Given the description of an element on the screen output the (x, y) to click on. 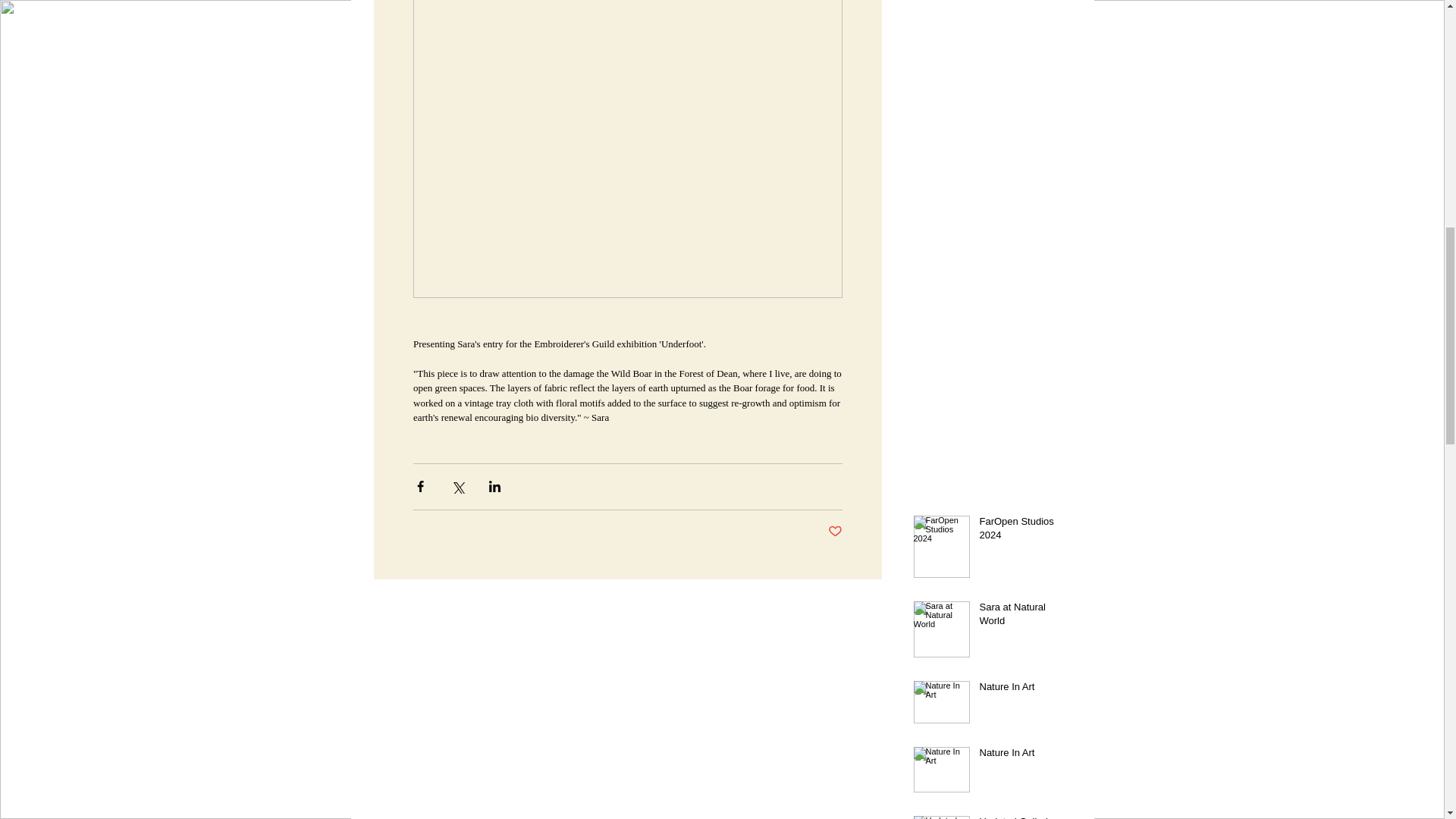
Updated Galleries (1020, 816)
Nature In Art (1020, 689)
Sara at Natural World (1020, 616)
Nature In Art (1020, 755)
FarOpen Studios 2024 (1020, 530)
Post not marked as liked (835, 530)
